Given the description of an element on the screen output the (x, y) to click on. 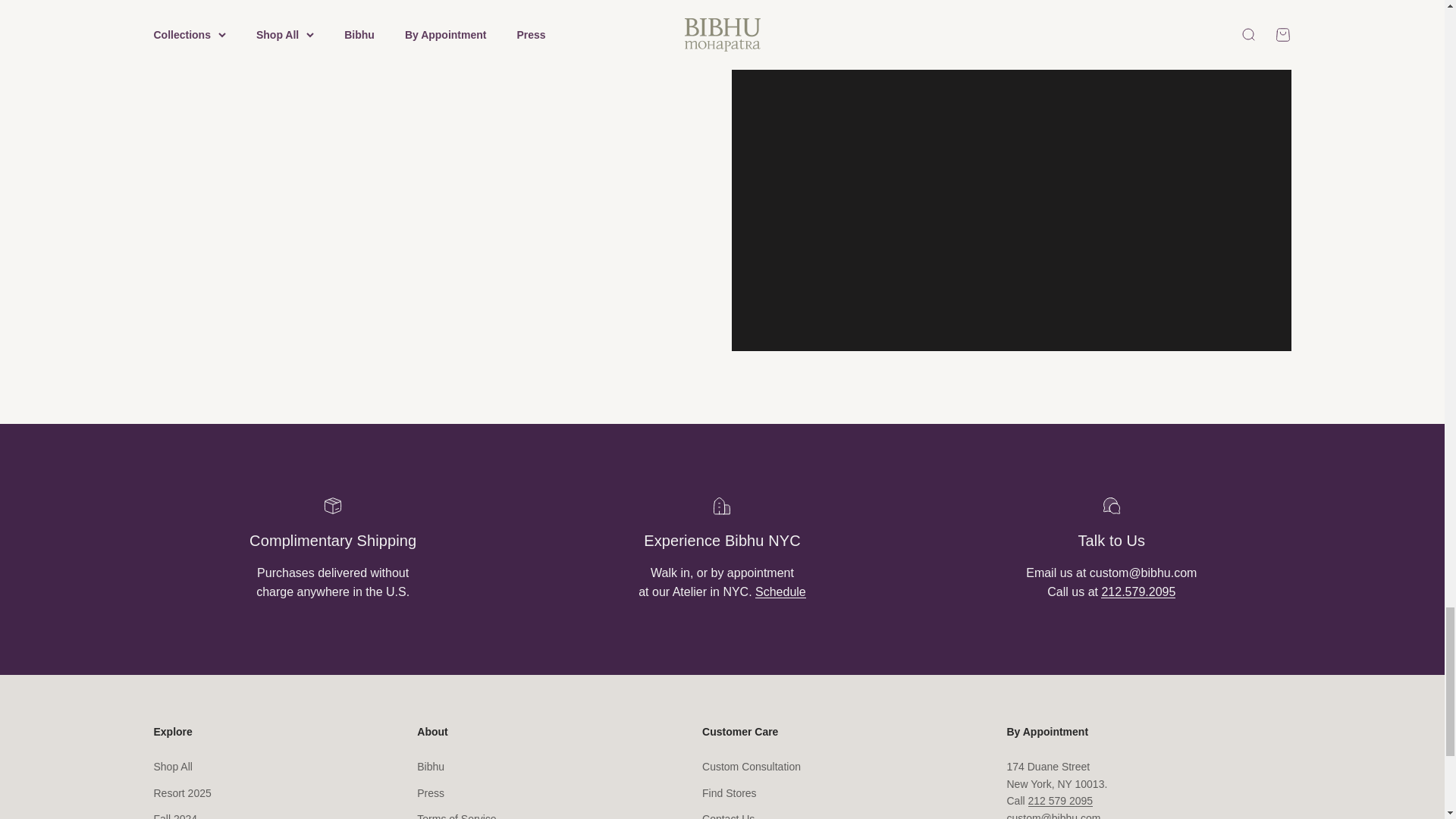
tel: 2125792095 (1137, 591)
tel:2125792095 (1060, 800)
